Given the description of an element on the screen output the (x, y) to click on. 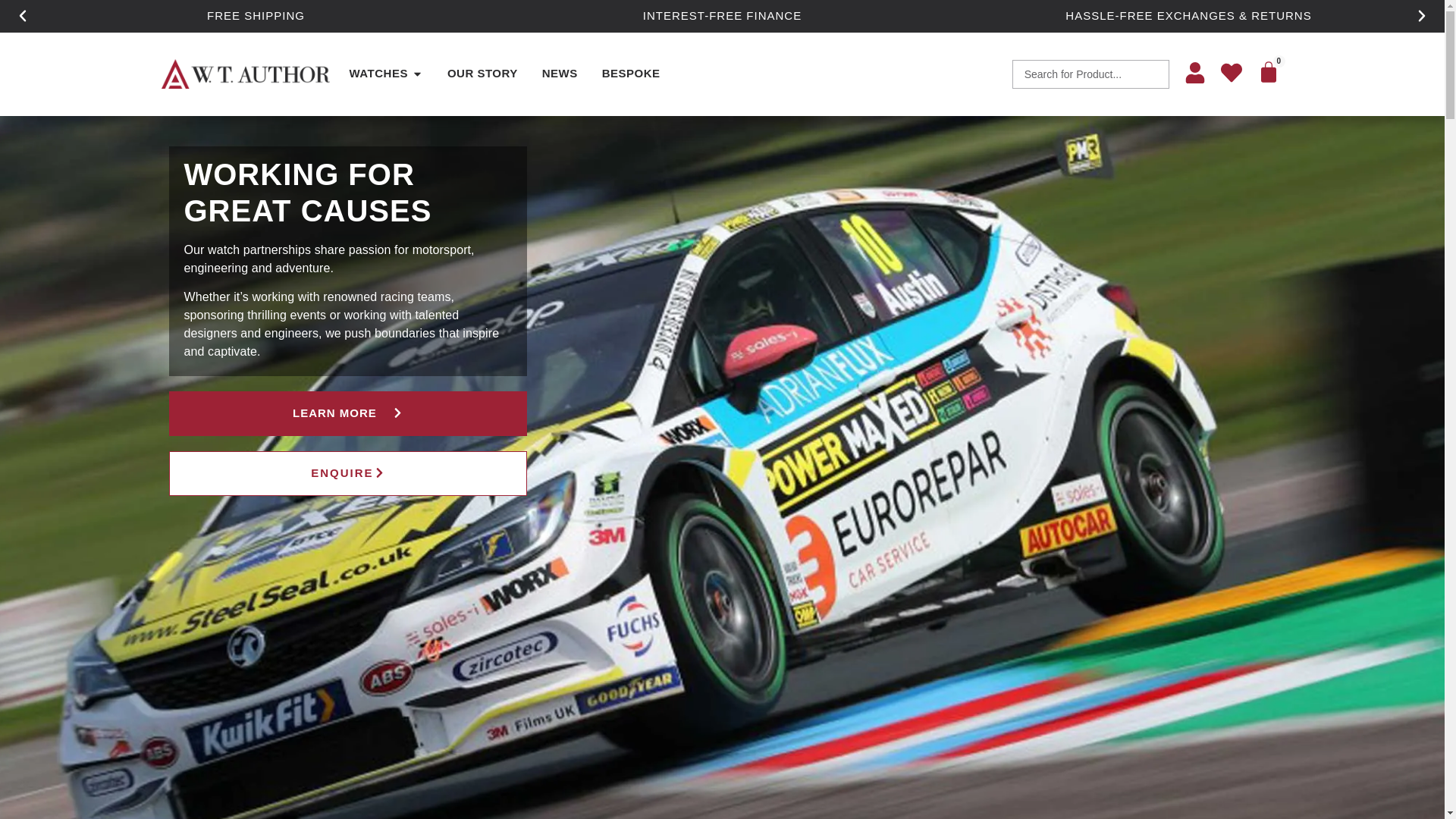
INTEREST-FREE FINANCE (722, 15)
WATCHES (378, 73)
FREE SHIPPING (255, 15)
